Given the description of an element on the screen output the (x, y) to click on. 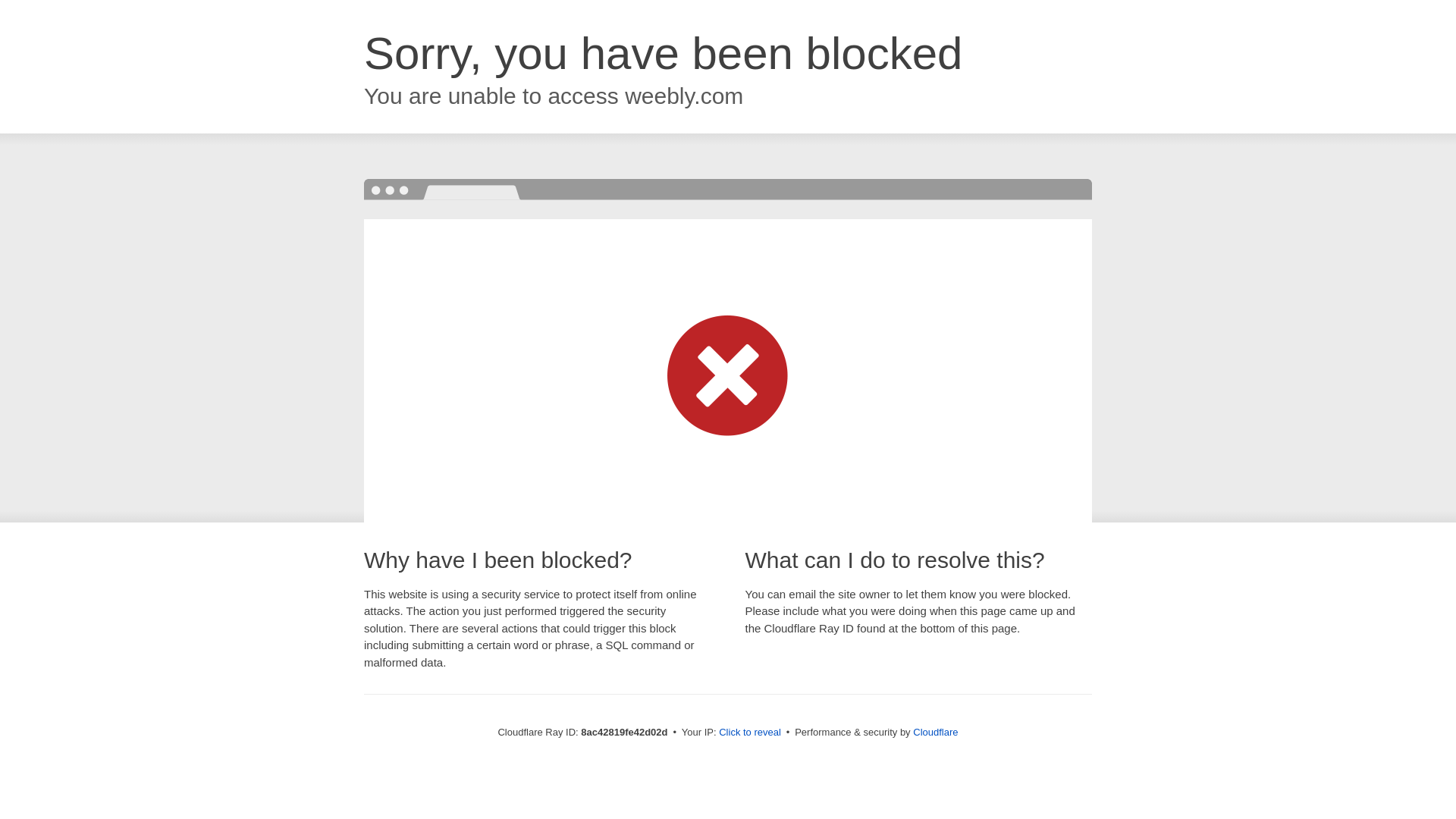
Cloudflare (935, 731)
Click to reveal (749, 732)
